Given the description of an element on the screen output the (x, y) to click on. 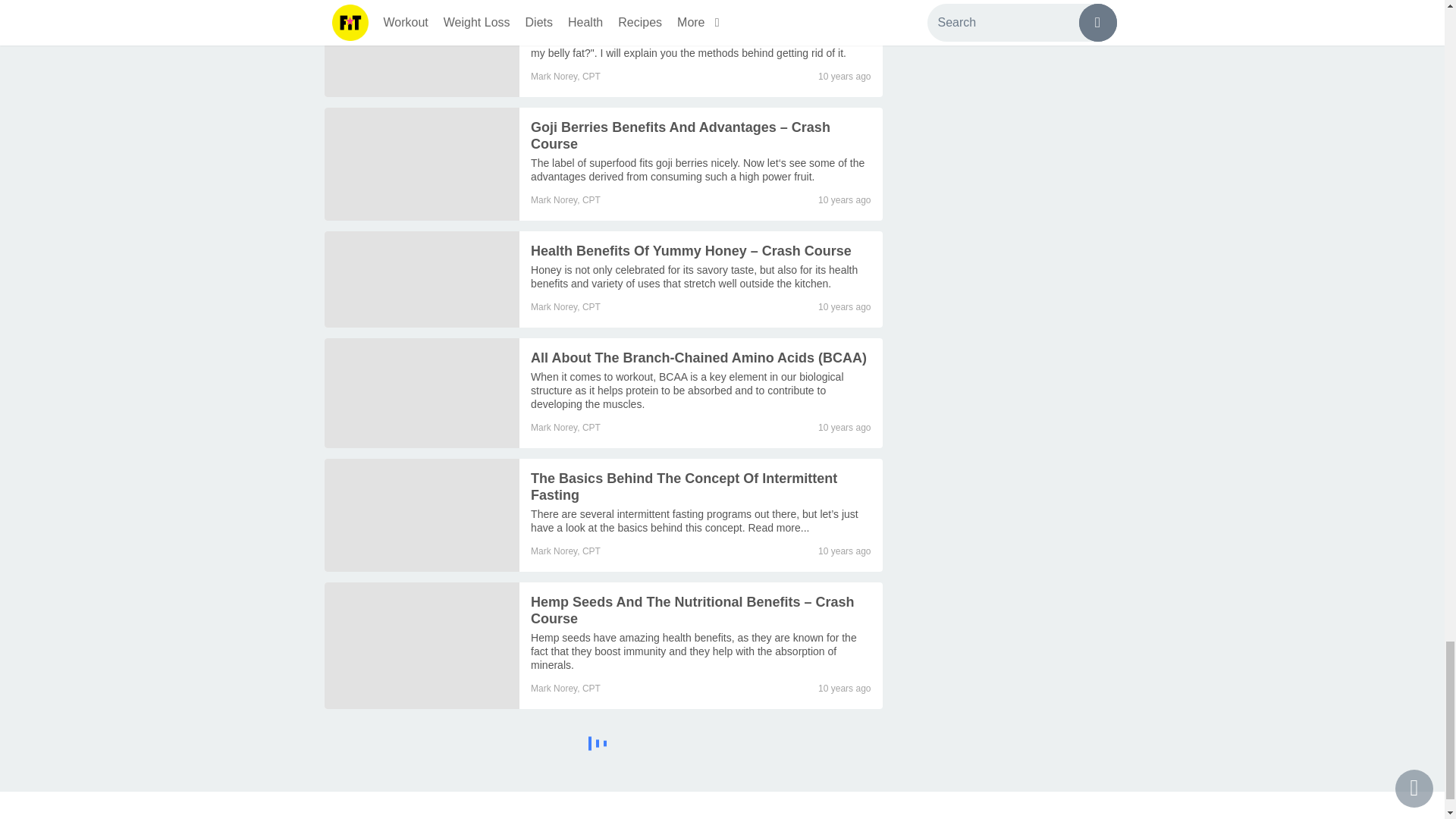
The Science Behind Burning Your Belly Fat (421, 48)
Searching for more related posts... (603, 746)
The Science Behind Burning Your Belly Fat (670, 20)
